Given the description of an element on the screen output the (x, y) to click on. 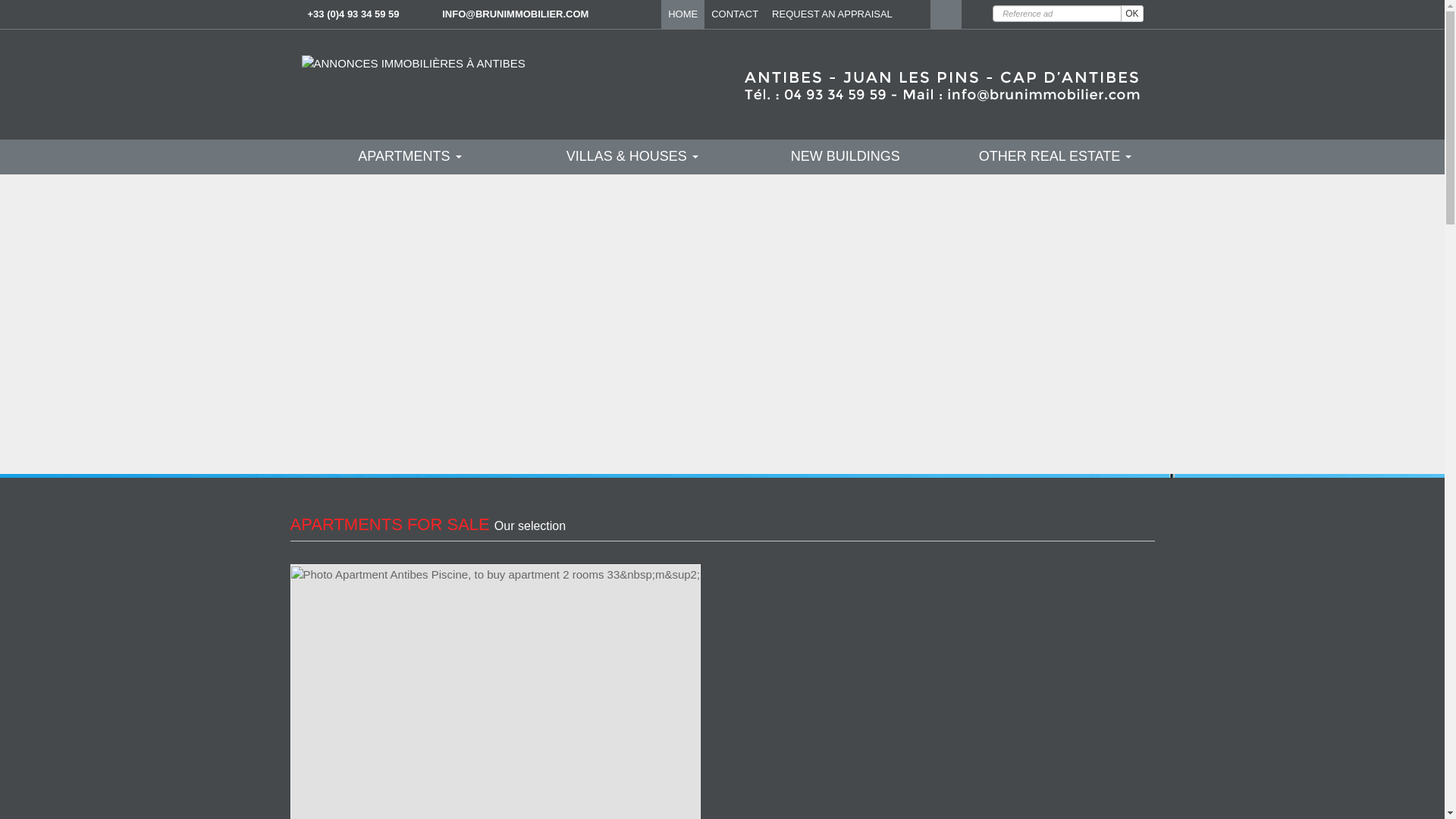
HOME (682, 14)
Agence Brun immobilier - Immobilier Antibes (413, 63)
Agence Brun immobilier - Immobilier Antibes (845, 63)
NEW BUILDINGS (845, 119)
APARTMENTS (409, 119)
Agence Brun immobilier - Immobilier Antibes (413, 62)
Contact Agence Brun immobilier Antibes (515, 13)
OK (1131, 13)
OTHER REAL ESTATE (1055, 119)
Agence Brun immobilier - Immobilier Antibes (914, 14)
Potete contattarci parliamo italiano (976, 14)
CONTACT (734, 14)
REQUEST AN APPRAISAL (832, 14)
ITALIANO (976, 14)
ENGLISH (945, 14)
